Given the description of an element on the screen output the (x, y) to click on. 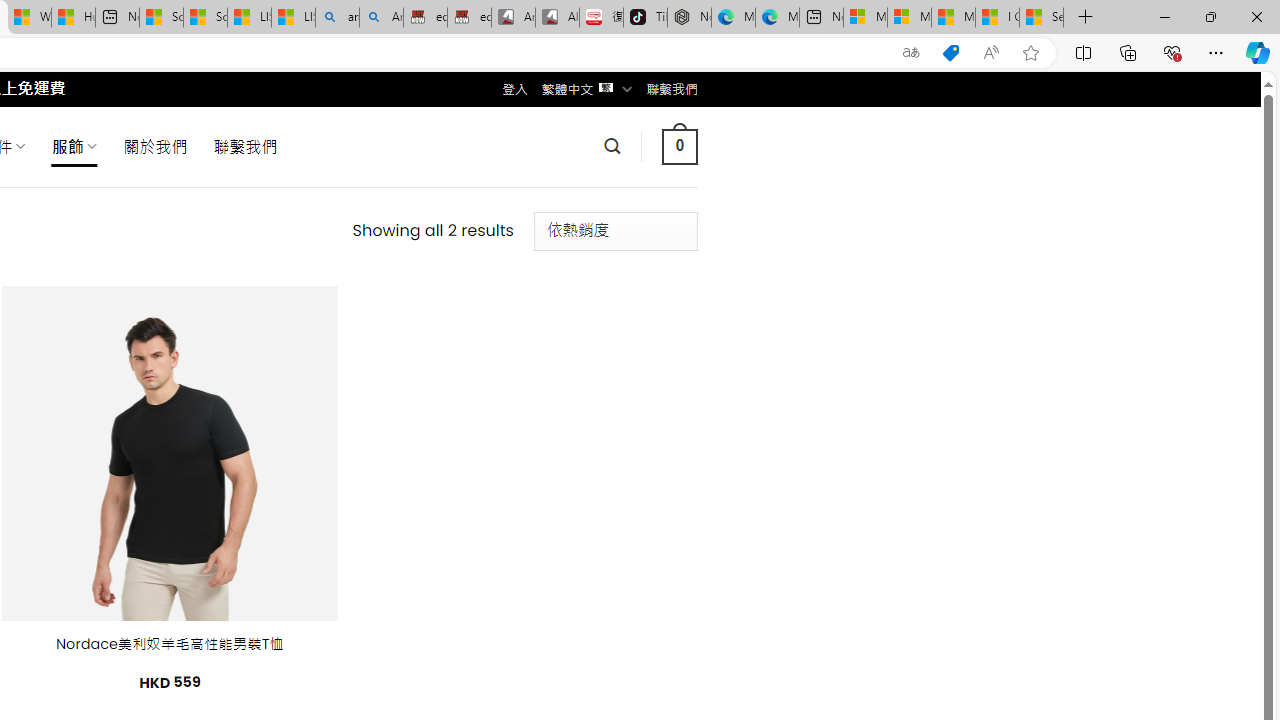
Microsoft account | Privacy (909, 17)
Show translate options (910, 53)
